Given the description of an element on the screen output the (x, y) to click on. 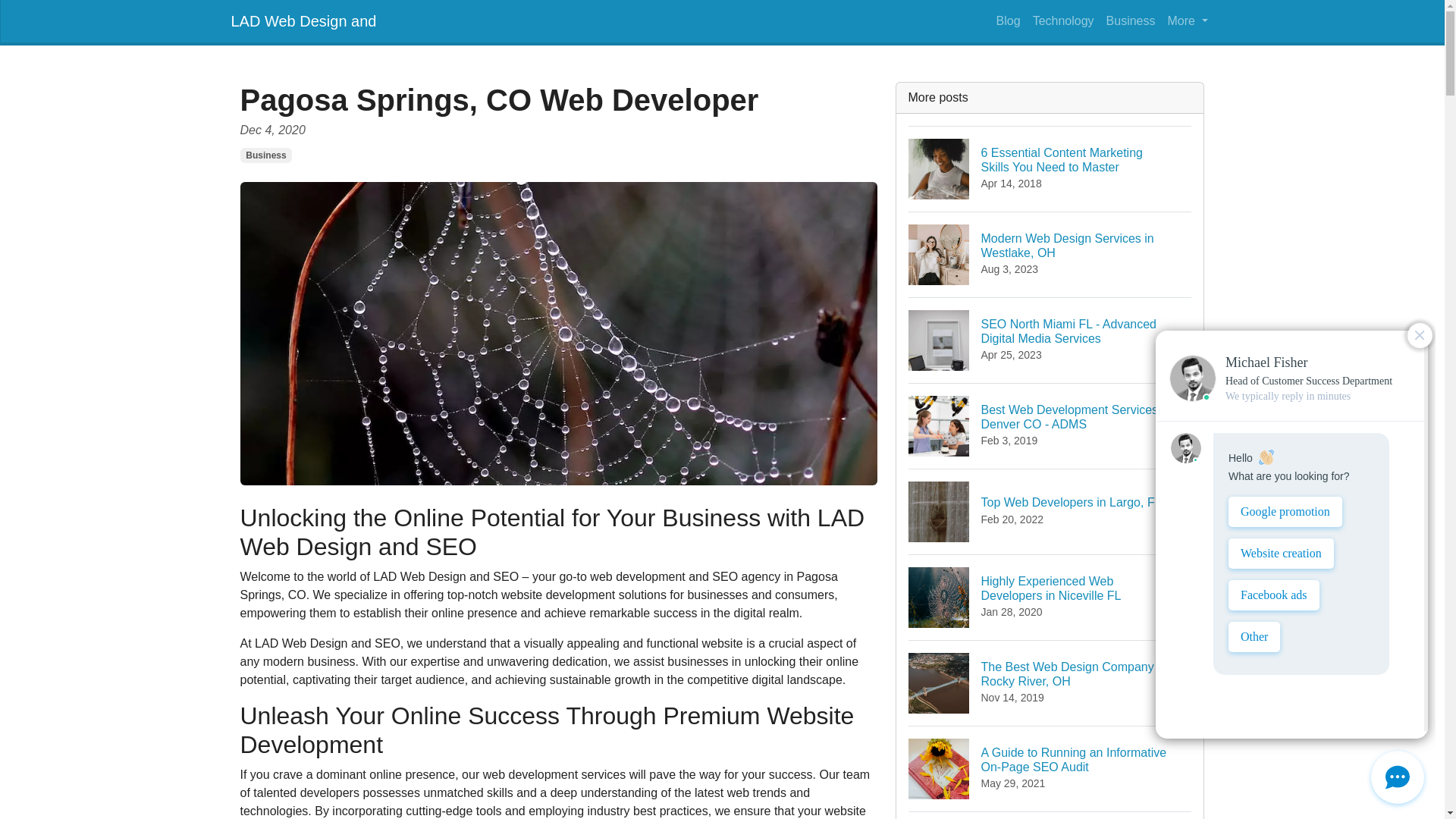
LAD Web Design and (302, 20)
Business (1130, 20)
Business (266, 155)
Blog (1050, 511)
Technology (1008, 20)
More (1050, 682)
